Given the description of an element on the screen output the (x, y) to click on. 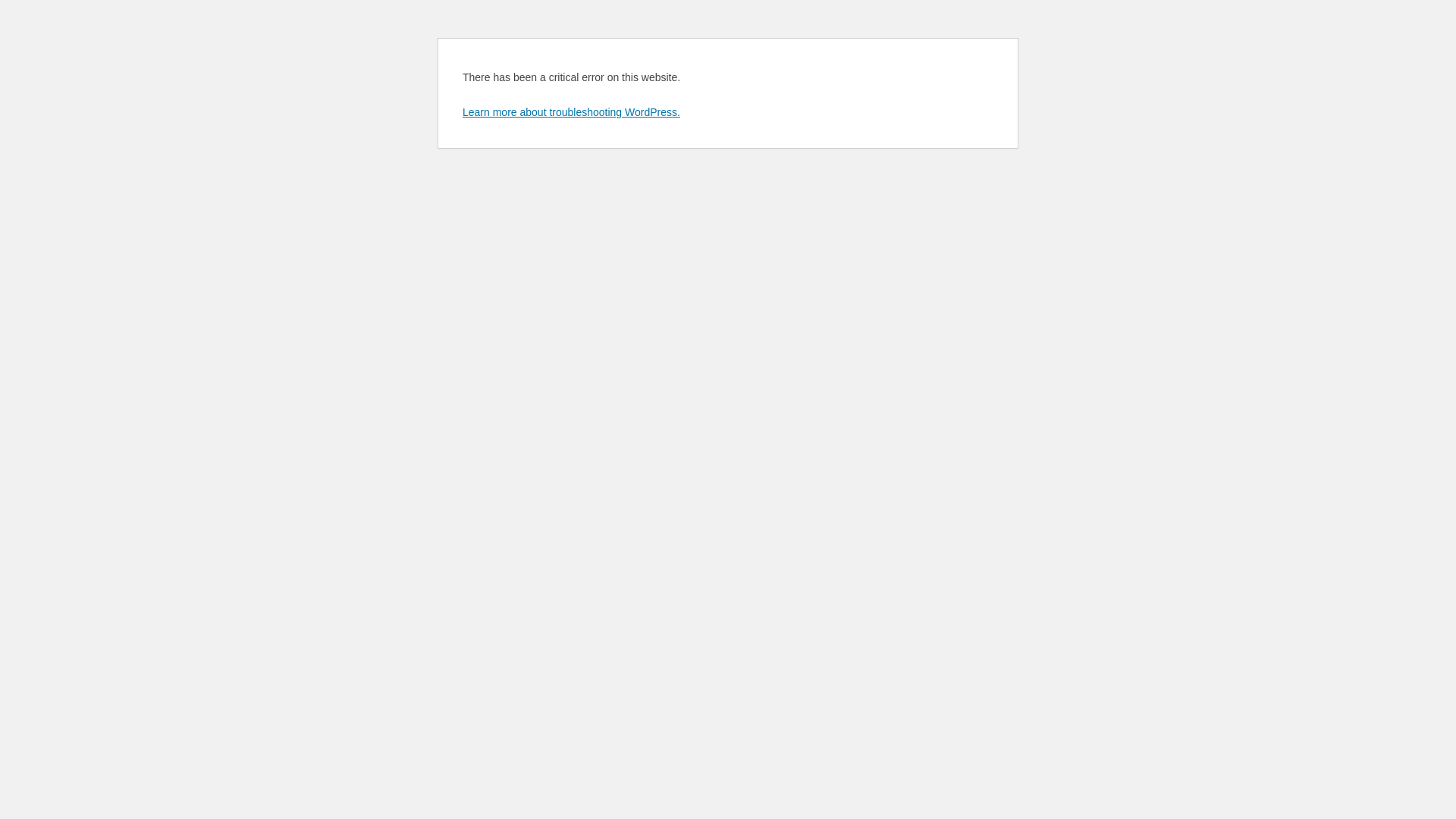
Learn more about troubleshooting WordPress. Element type: text (571, 112)
